Given the description of an element on the screen output the (x, y) to click on. 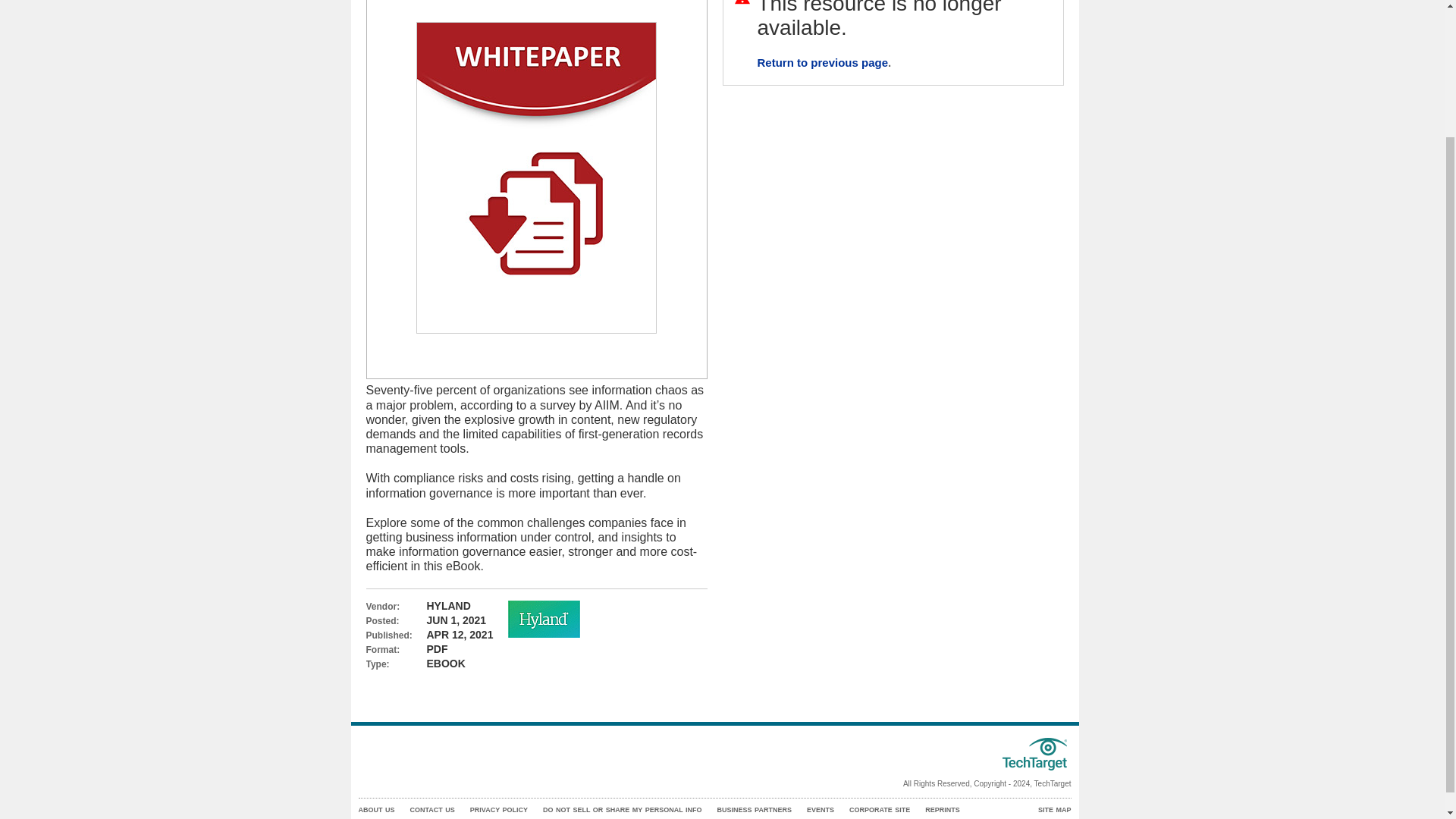
EVENTS (820, 809)
ABOUT US (376, 809)
PRIVACY POLICY (498, 809)
Return to previous page (822, 62)
SITE MAP (1054, 809)
REPRINTS (941, 809)
DO NOT SELL OR SHARE MY PERSONAL INFO (622, 809)
CORPORATE SITE (879, 809)
CONTACT US (431, 809)
BUSINESS PARTNERS (754, 809)
